Given the description of an element on the screen output the (x, y) to click on. 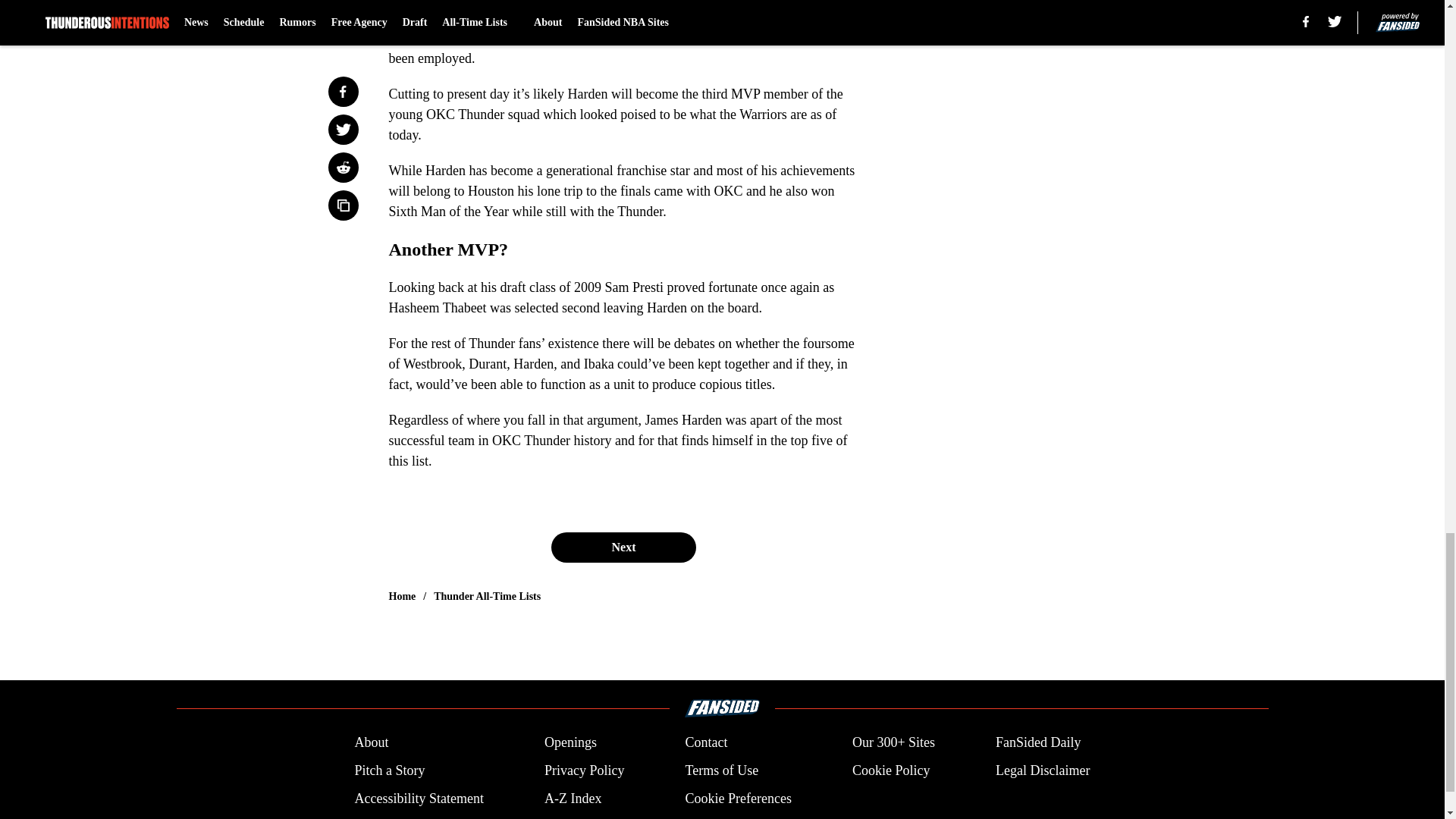
Legal Disclaimer (1042, 770)
Pitch a Story (389, 770)
About (370, 742)
Thunder All-Time Lists (486, 596)
Home (401, 596)
Openings (570, 742)
Next (622, 547)
FanSided Daily (1038, 742)
Accessibility Statement (418, 798)
Privacy Policy (584, 770)
